Given the description of an element on the screen output the (x, y) to click on. 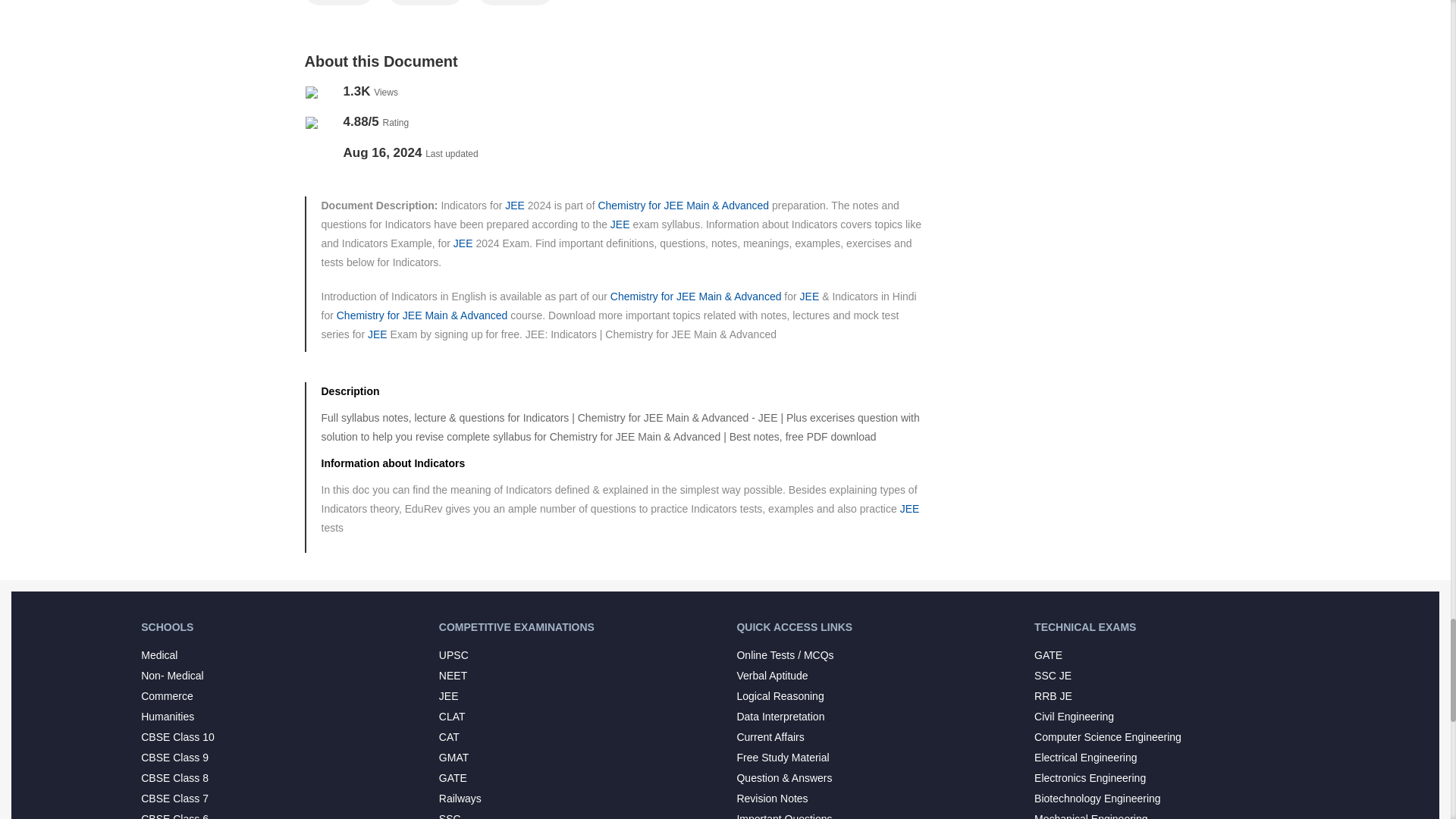
Grade 9 (338, 2)
Grade 11 (515, 2)
Grade 10 (425, 2)
